Given the description of an element on the screen output the (x, y) to click on. 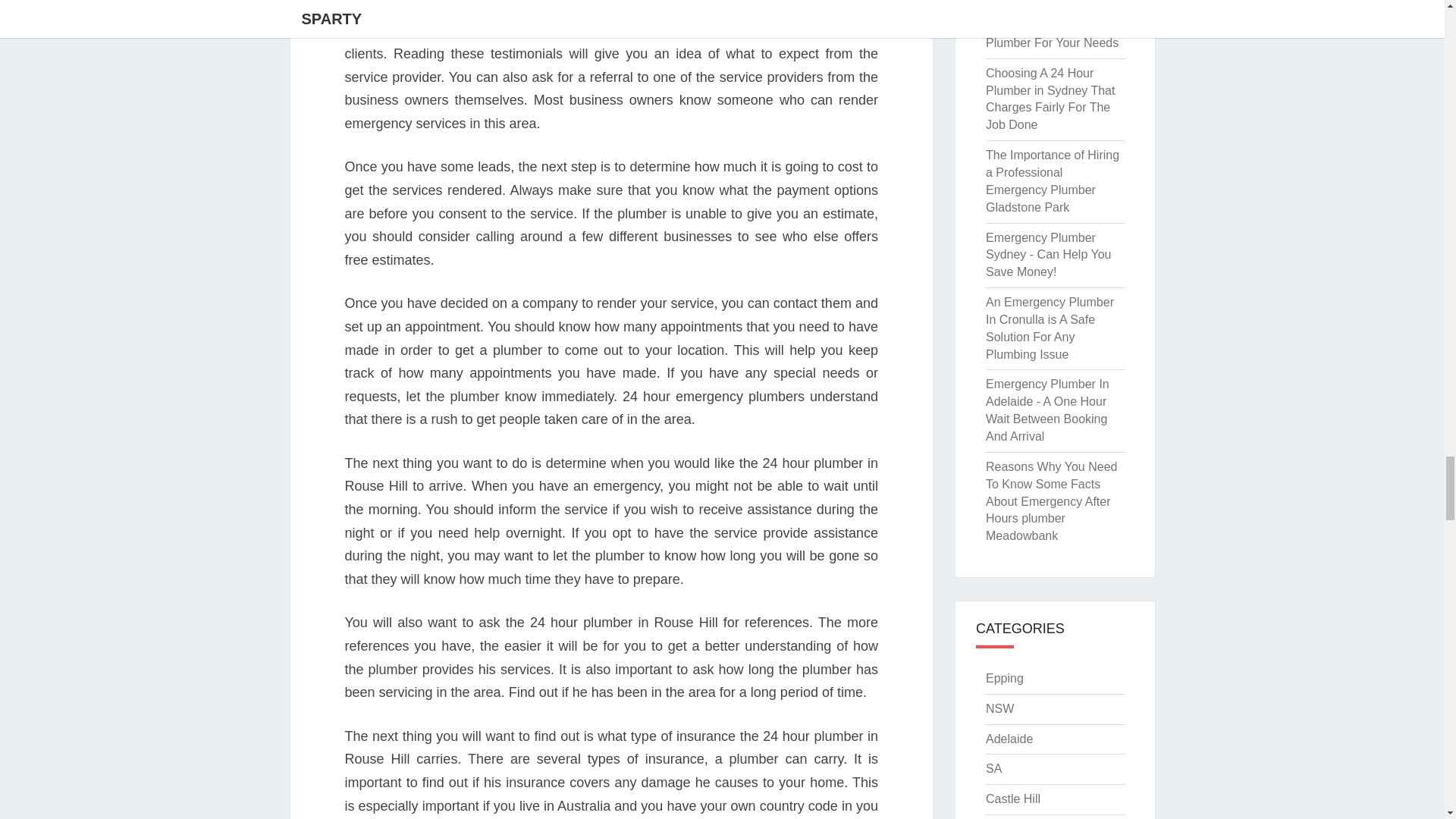
search for a 24 hour plumber in Rouse Hill (631, 7)
